Given the description of an element on the screen output the (x, y) to click on. 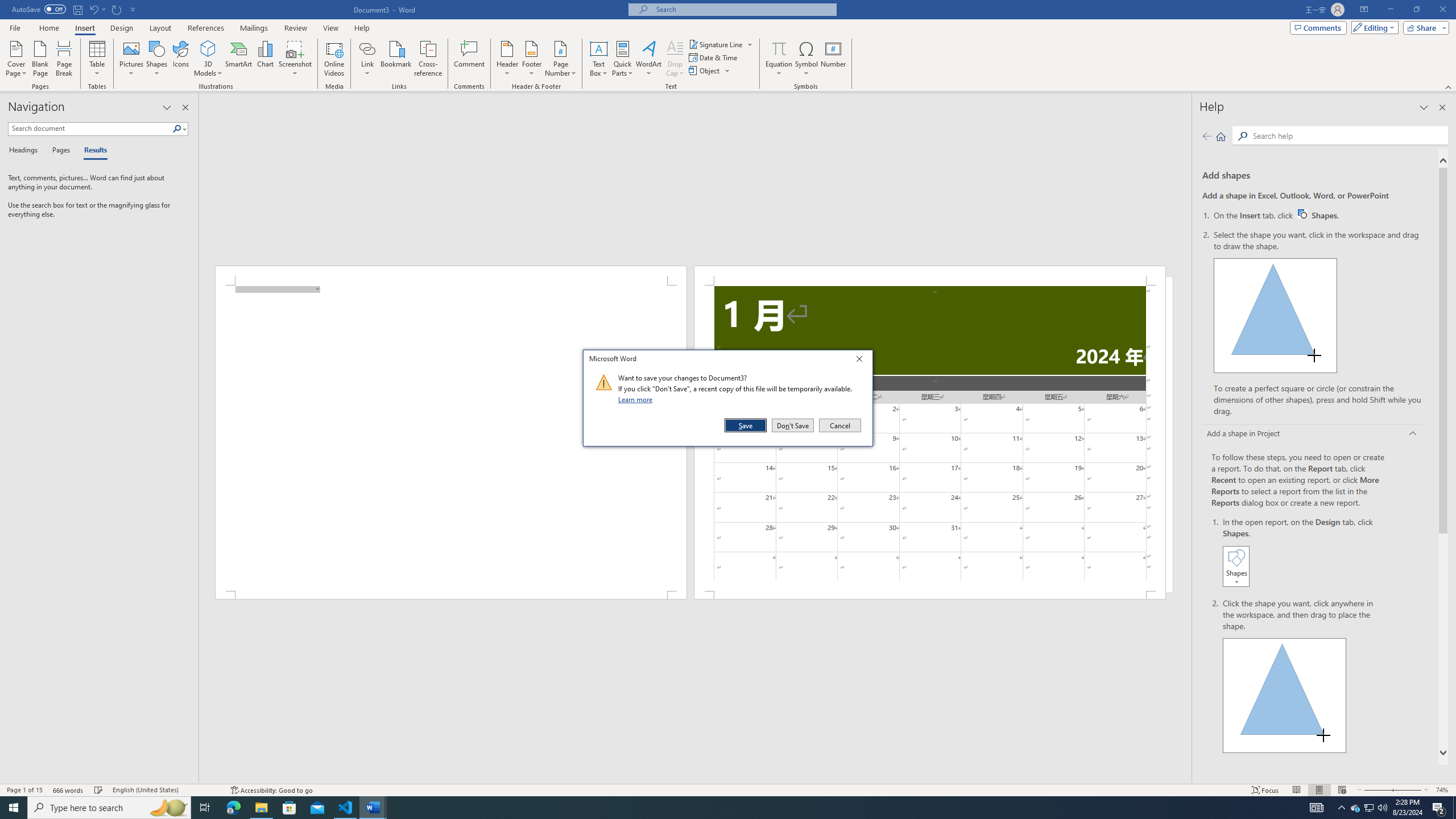
Text Box (598, 58)
Quick Access Toolbar (74, 9)
Page Number Page 1 of 15 (24, 790)
Pages (59, 150)
View (330, 28)
Screenshot (295, 58)
Show desktop (1454, 807)
Task View (204, 807)
